Given the description of an element on the screen output the (x, y) to click on. 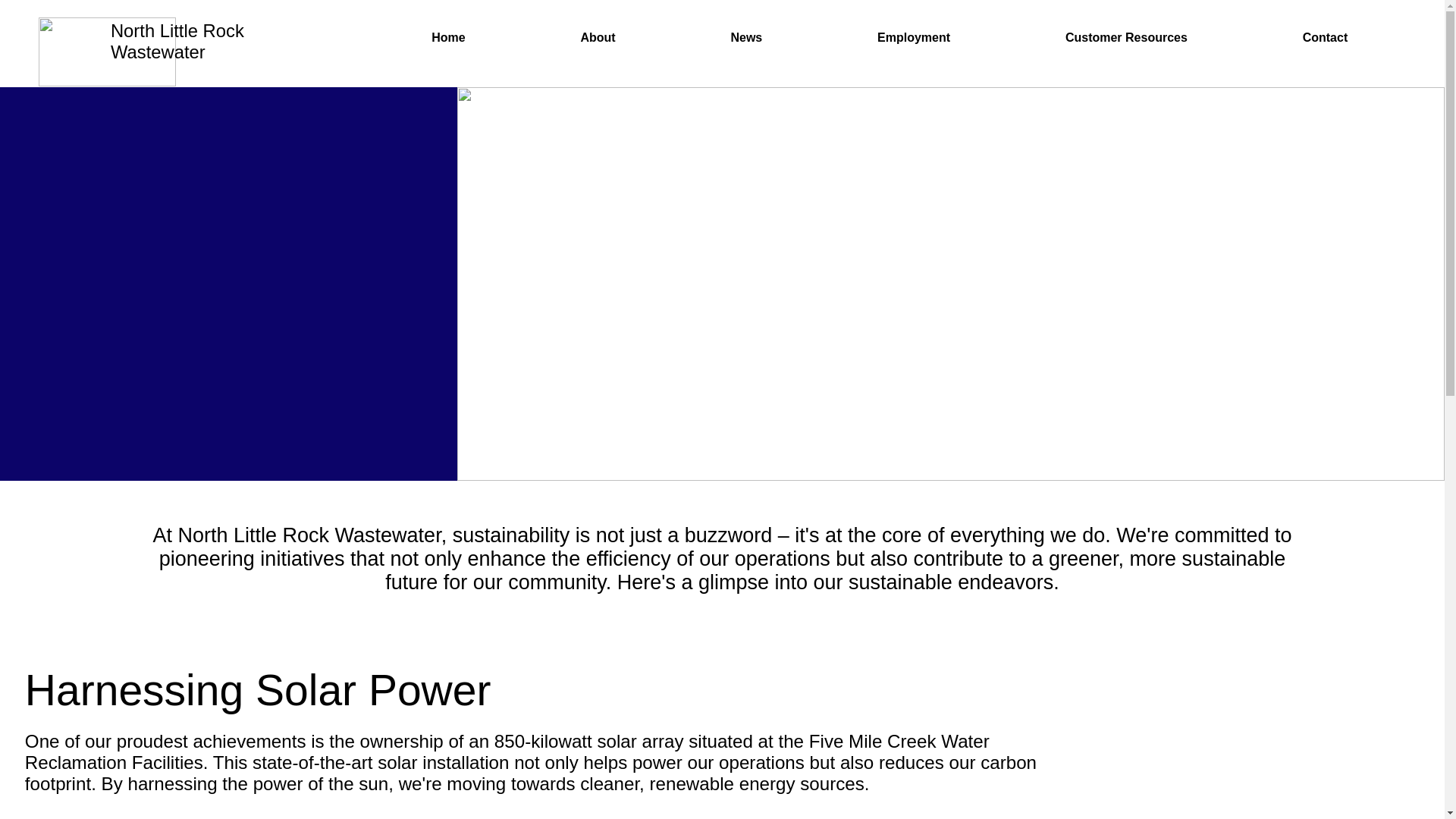
Employment (914, 37)
Customer Resources (1126, 37)
Contact (1325, 37)
About (596, 37)
Home (447, 37)
News (889, 37)
